Given the description of an element on the screen output the (x, y) to click on. 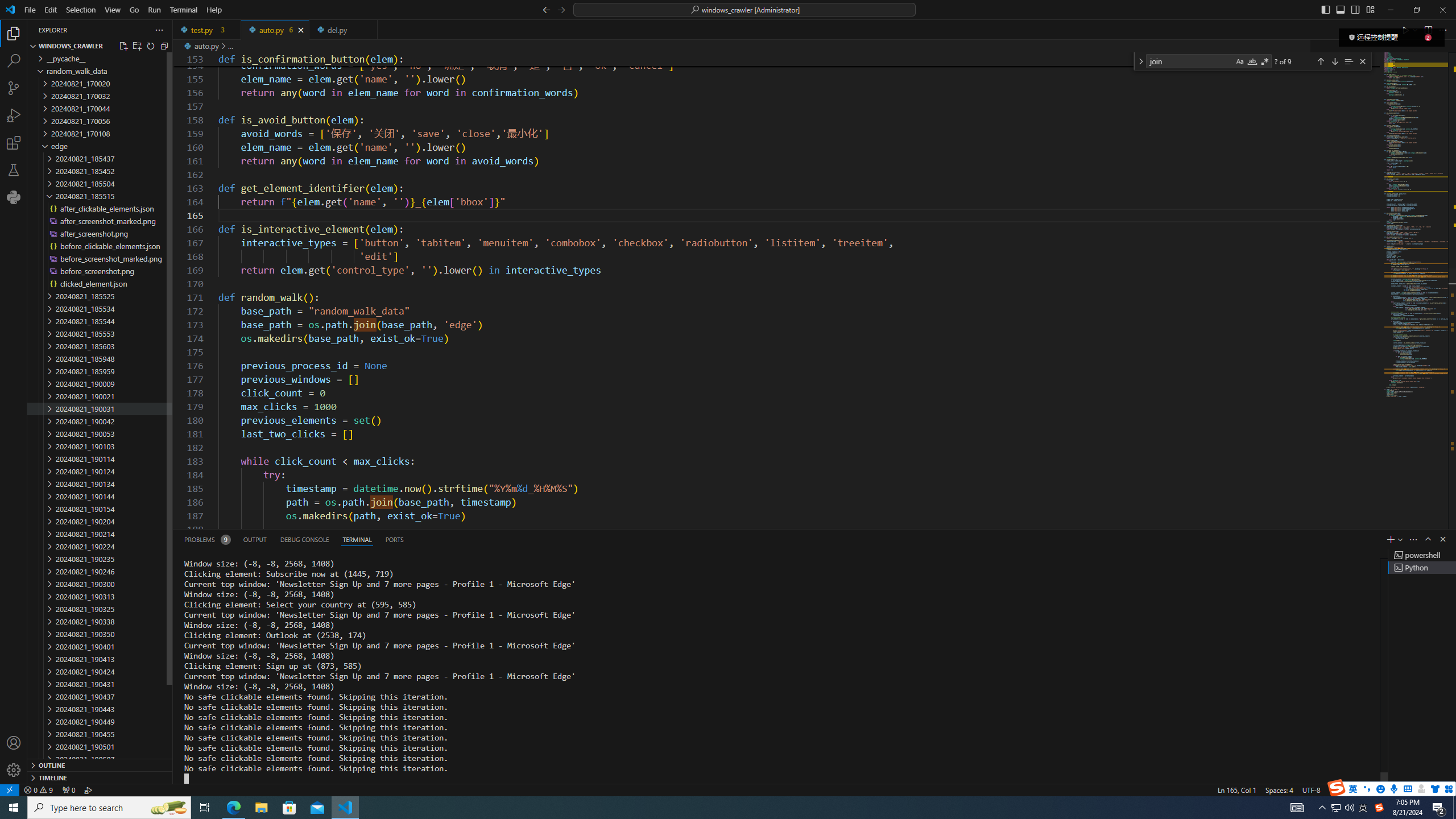
del.py (342, 29)
Edit (50, 9)
Refresh Explorer (150, 45)
Go Back (Alt+LeftArrow) (546, 9)
Customize Layout... (1369, 9)
Testing (13, 169)
Go Forward (Alt+RightArrow) (560, 9)
More Actions... (1442, 29)
Match Case (Alt+C) (1239, 61)
Next Match (Enter) (1333, 60)
Terminal 3 Python (1422, 567)
Go (134, 9)
